Given the description of an element on the screen output the (x, y) to click on. 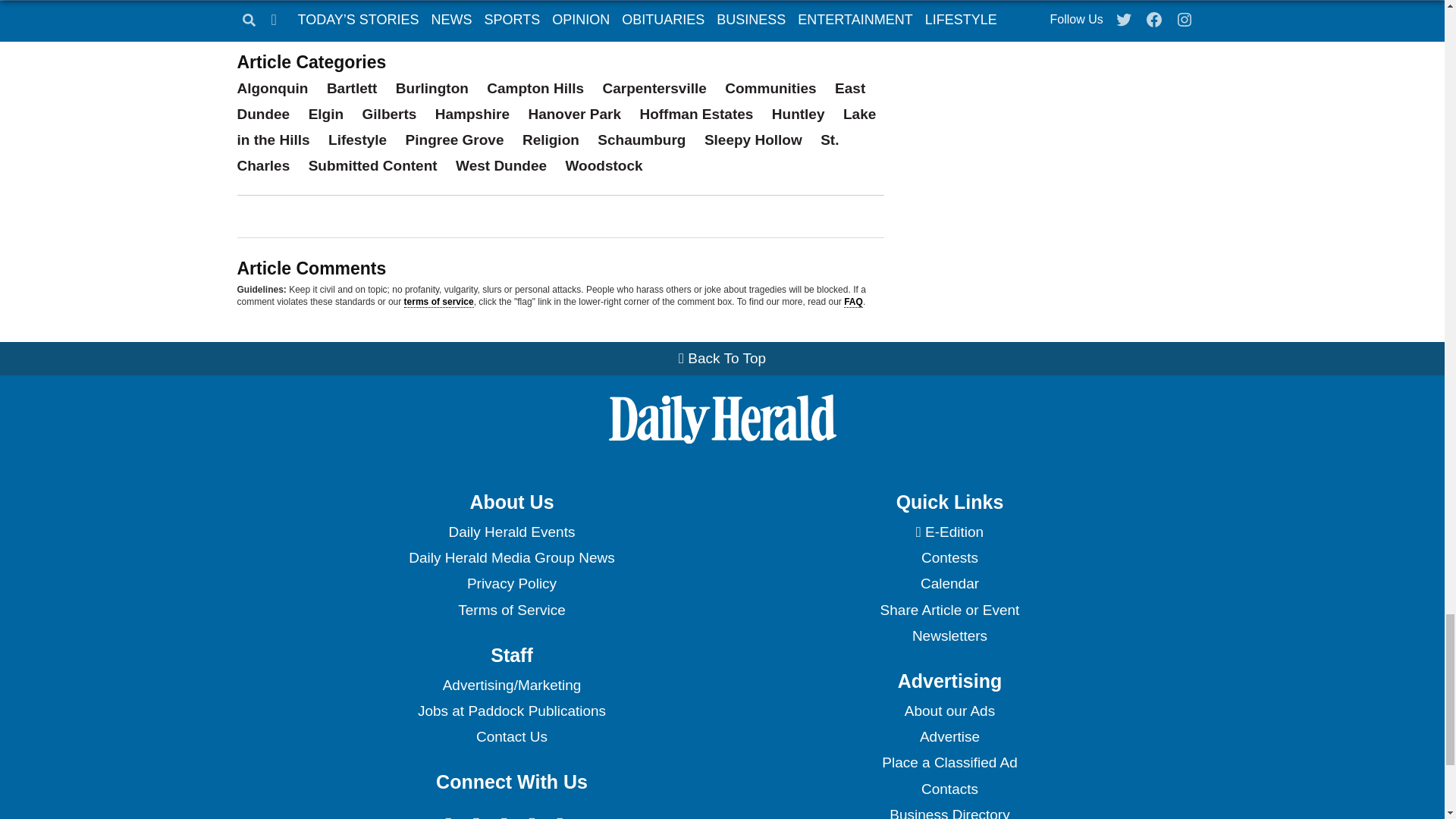
Daily Herald Digital Newspaper (949, 532)
Daily Herald Media Group News (511, 557)
Daily Herald Events (511, 532)
Terms of Service (511, 610)
Jobs at Paddock Publications (511, 710)
Contests (949, 557)
Contact Us (511, 736)
Privacy Policy (511, 583)
